Given the description of an element on the screen output the (x, y) to click on. 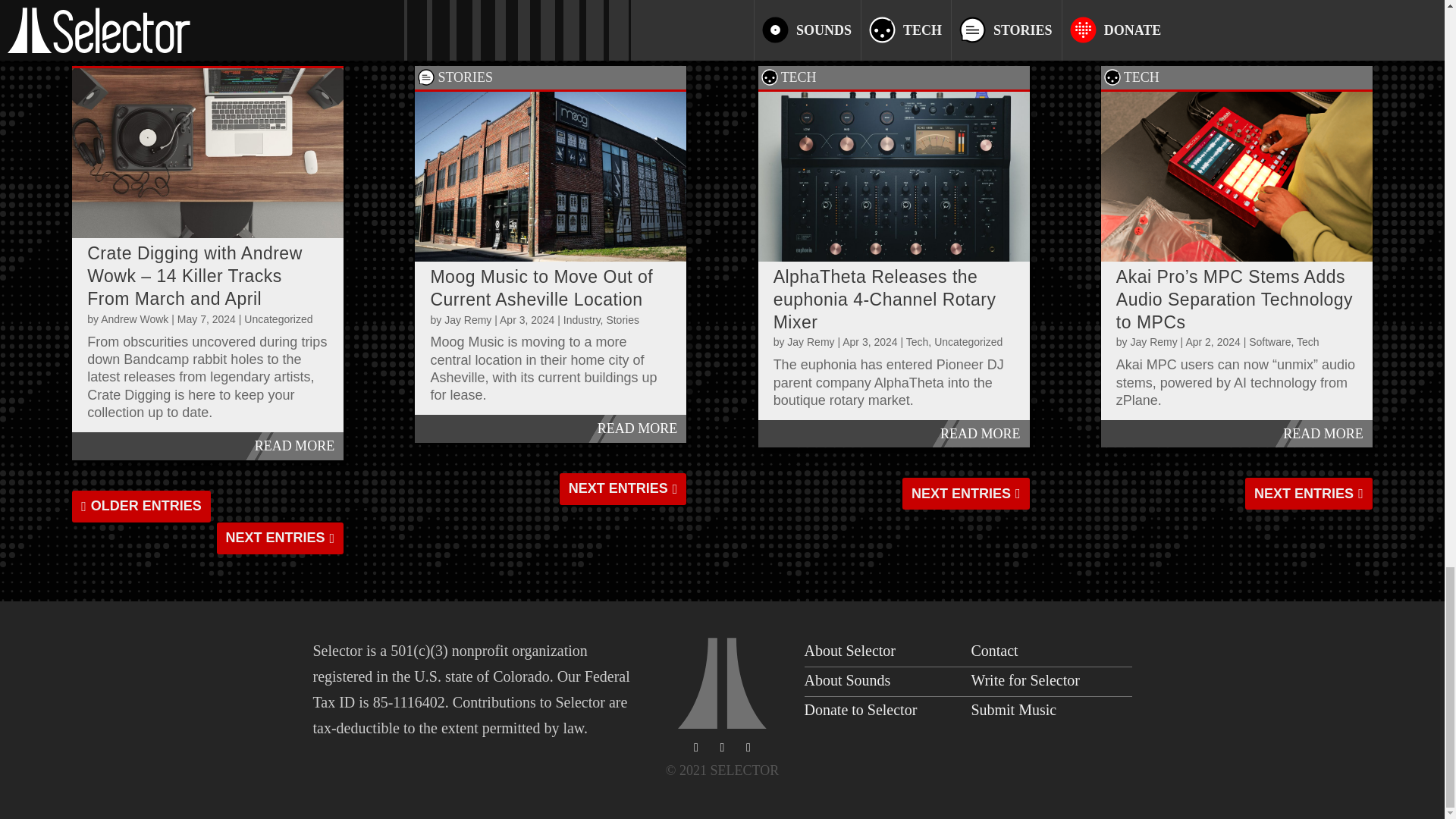
Posts by Jay Remy (1152, 341)
Posts by Andrew Wowk (134, 318)
Posts by Jay Remy (810, 341)
Posts by Jay Remy (468, 319)
